Given the description of an element on the screen output the (x, y) to click on. 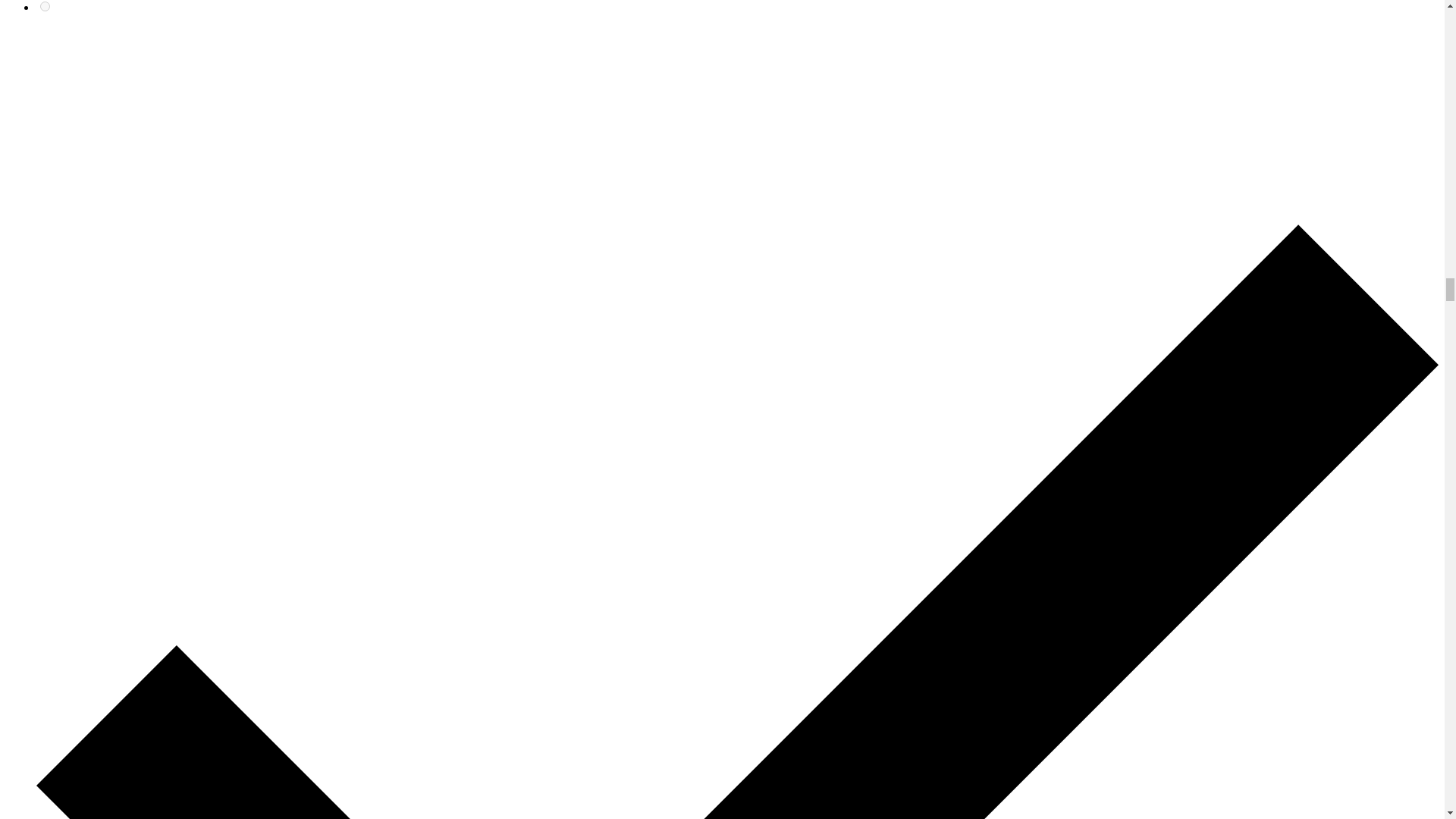
Keung, Chrysa (44, 6)
